Given the description of an element on the screen output the (x, y) to click on. 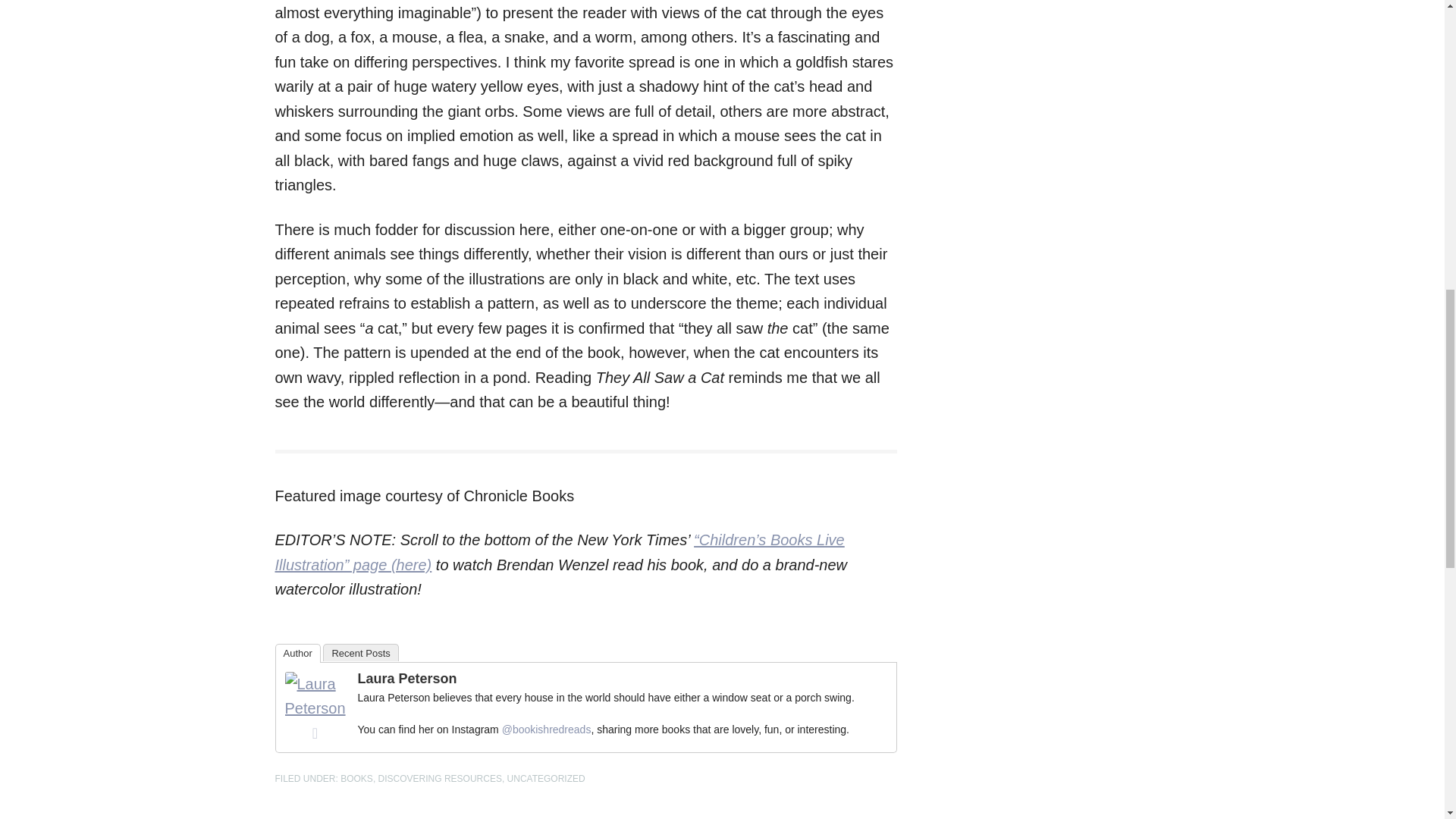
Laura Peterson (315, 708)
Twitter (314, 732)
DISCOVERING RESOURCES (440, 778)
Author (297, 652)
BOOKS (356, 778)
Recent Posts (360, 651)
UNCATEGORIZED (545, 778)
Laura Peterson (407, 678)
